Given the description of an element on the screen output the (x, y) to click on. 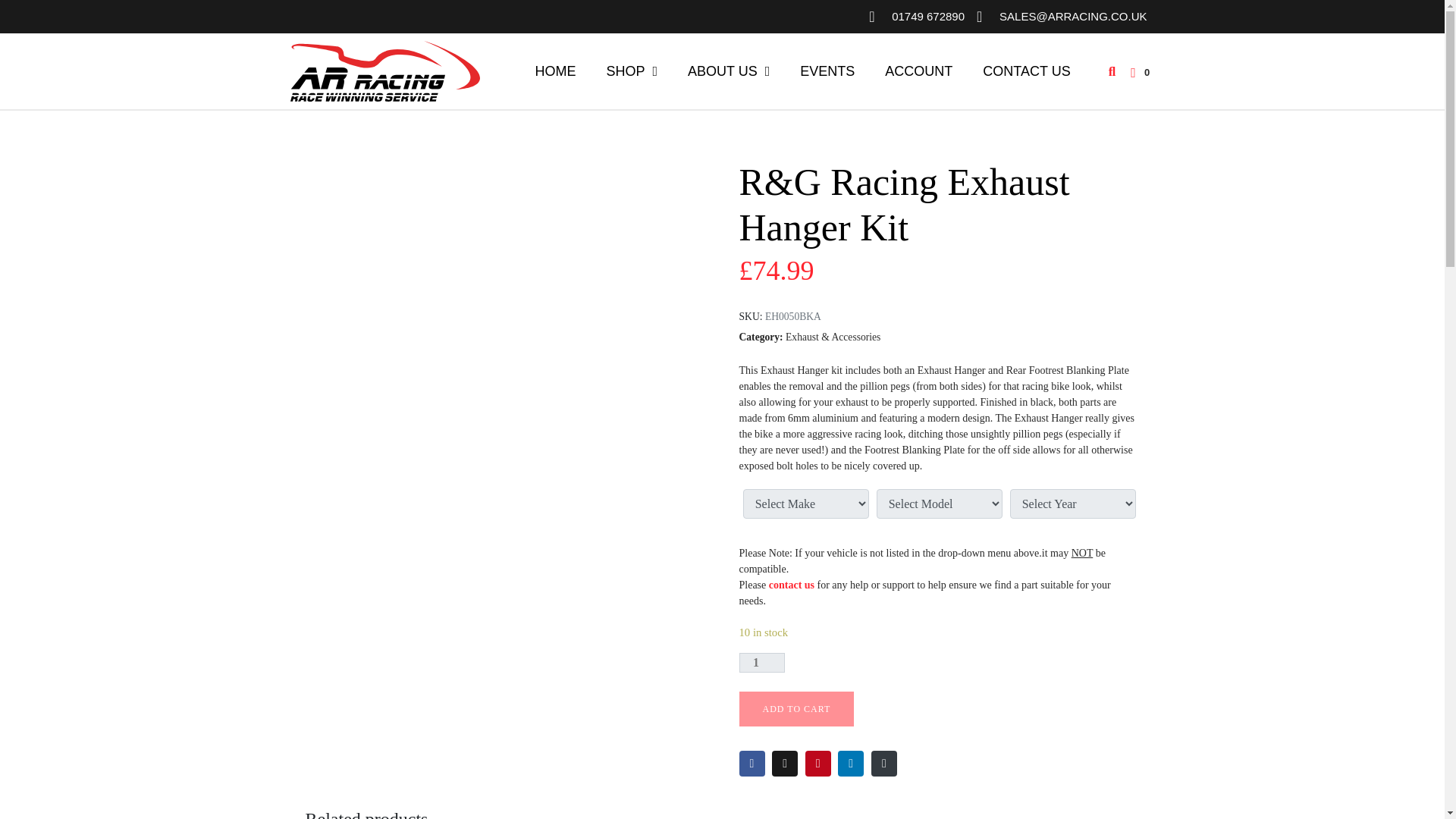
01749 672890 (916, 16)
1 (761, 662)
SHOP (631, 70)
HOME (555, 70)
